Given the description of an element on the screen output the (x, y) to click on. 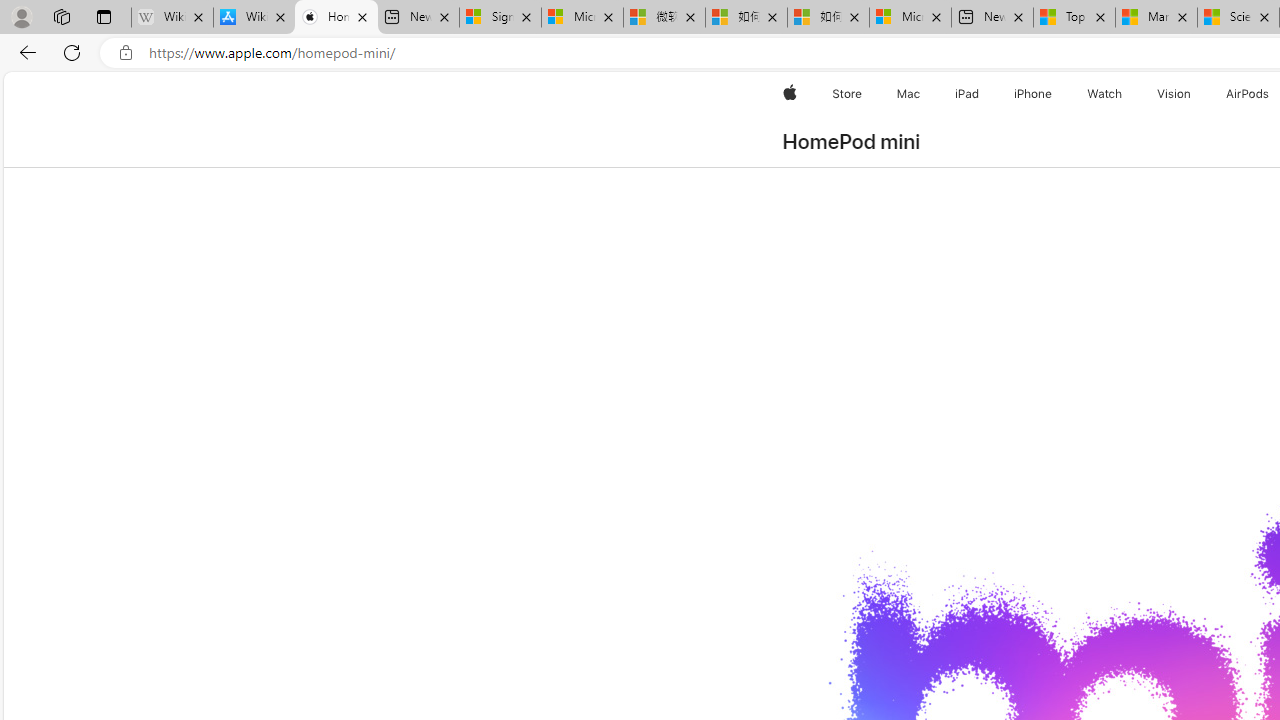
AirPods (1247, 93)
Marine life - MSN (1156, 17)
Watch (1105, 93)
HomePod mini - Apple (336, 17)
Mac menu (922, 93)
Store (846, 93)
Watch (1105, 93)
Top Stories - MSN (1074, 17)
Apple (789, 93)
Store (846, 93)
